Given the description of an element on the screen output the (x, y) to click on. 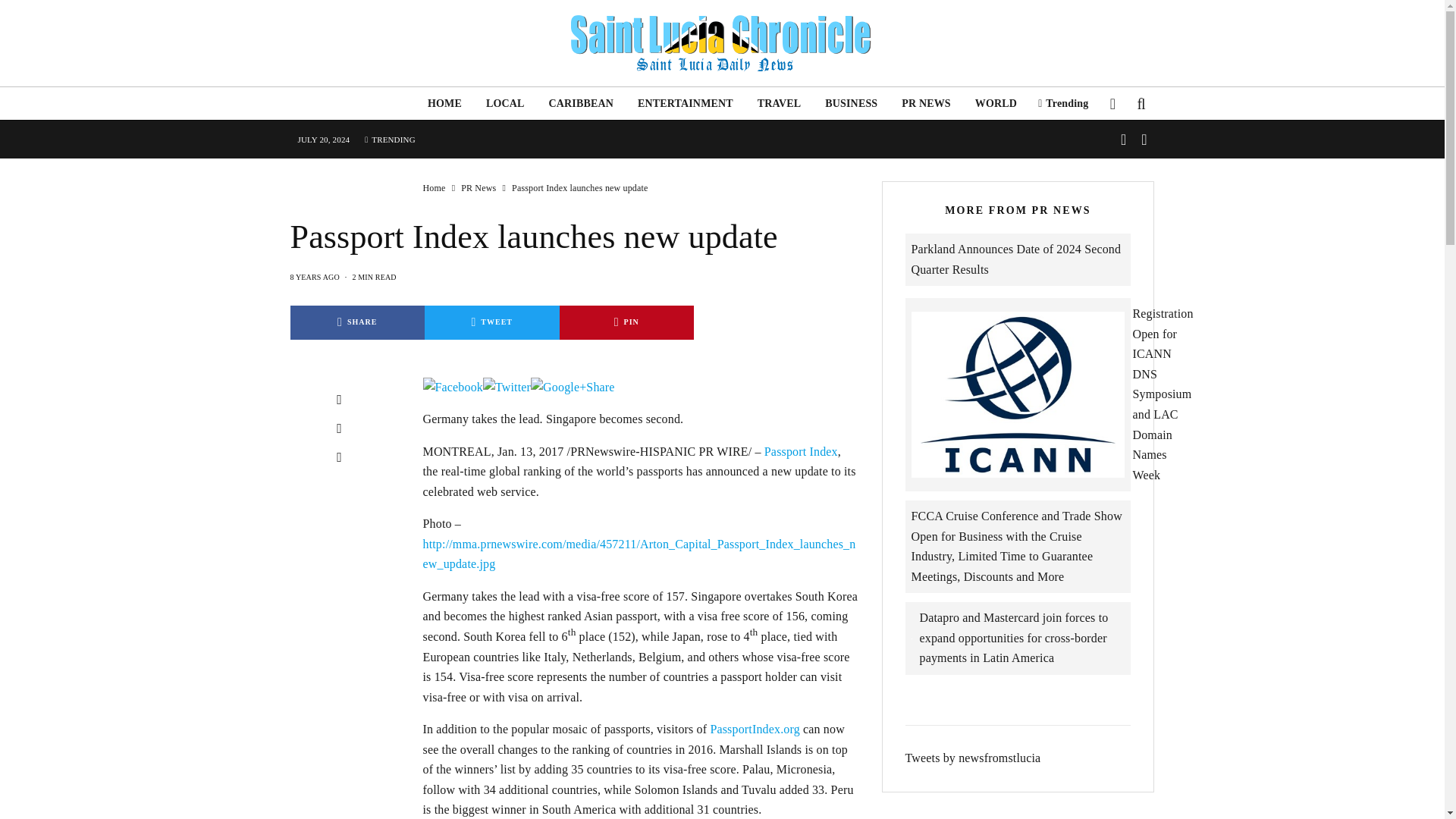
HOME (444, 102)
Facebook (453, 386)
Twitter (507, 386)
CARIBBEAN (581, 102)
TRAVEL (779, 102)
ENTERTAINMENT (685, 102)
LOCAL (505, 102)
